Given the description of an element on the screen output the (x, y) to click on. 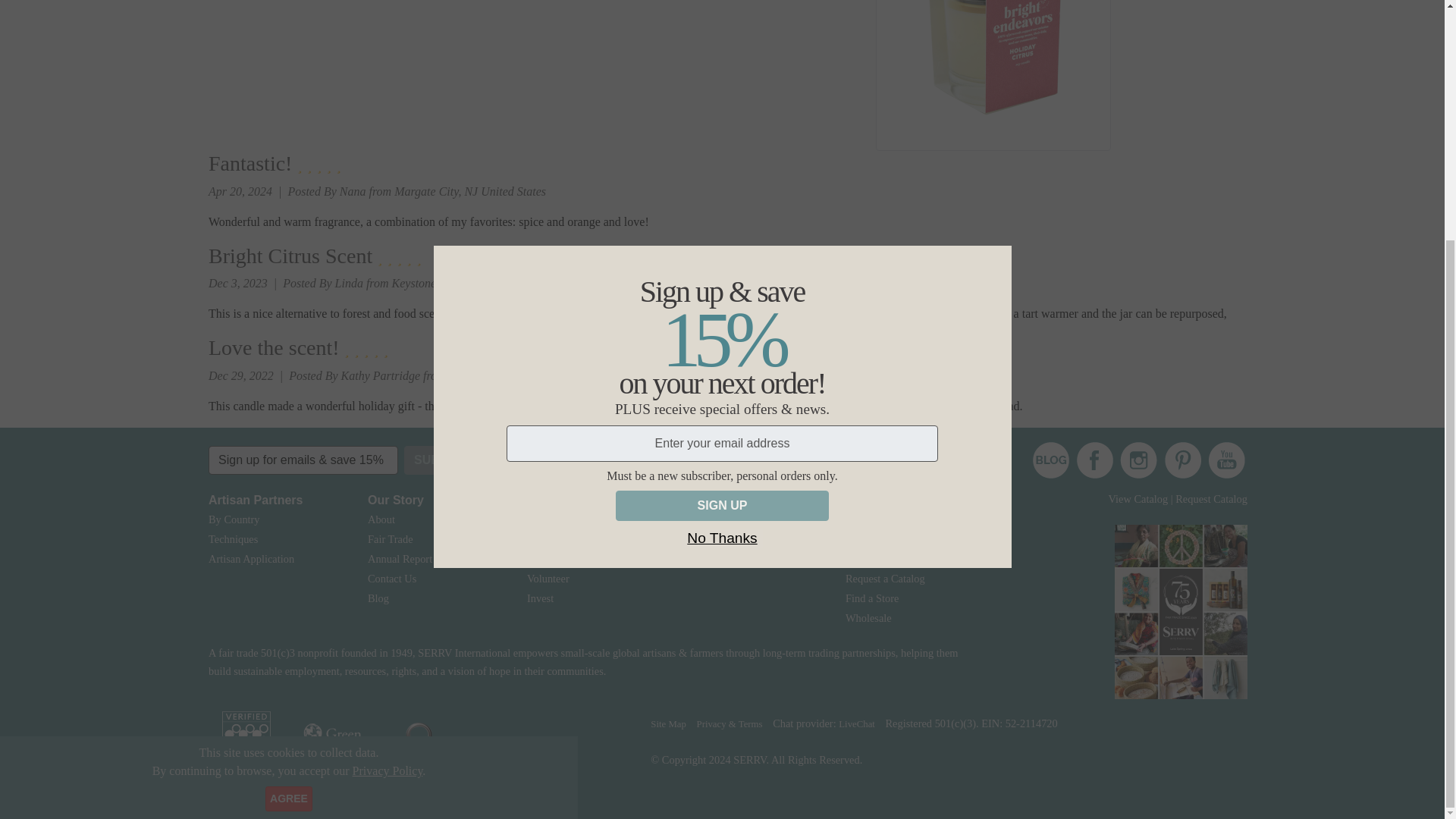
Submit (437, 460)
SIGN UP (721, 173)
Enter your email address (722, 112)
No Thanks (721, 207)
